Given the description of an element on the screen output the (x, y) to click on. 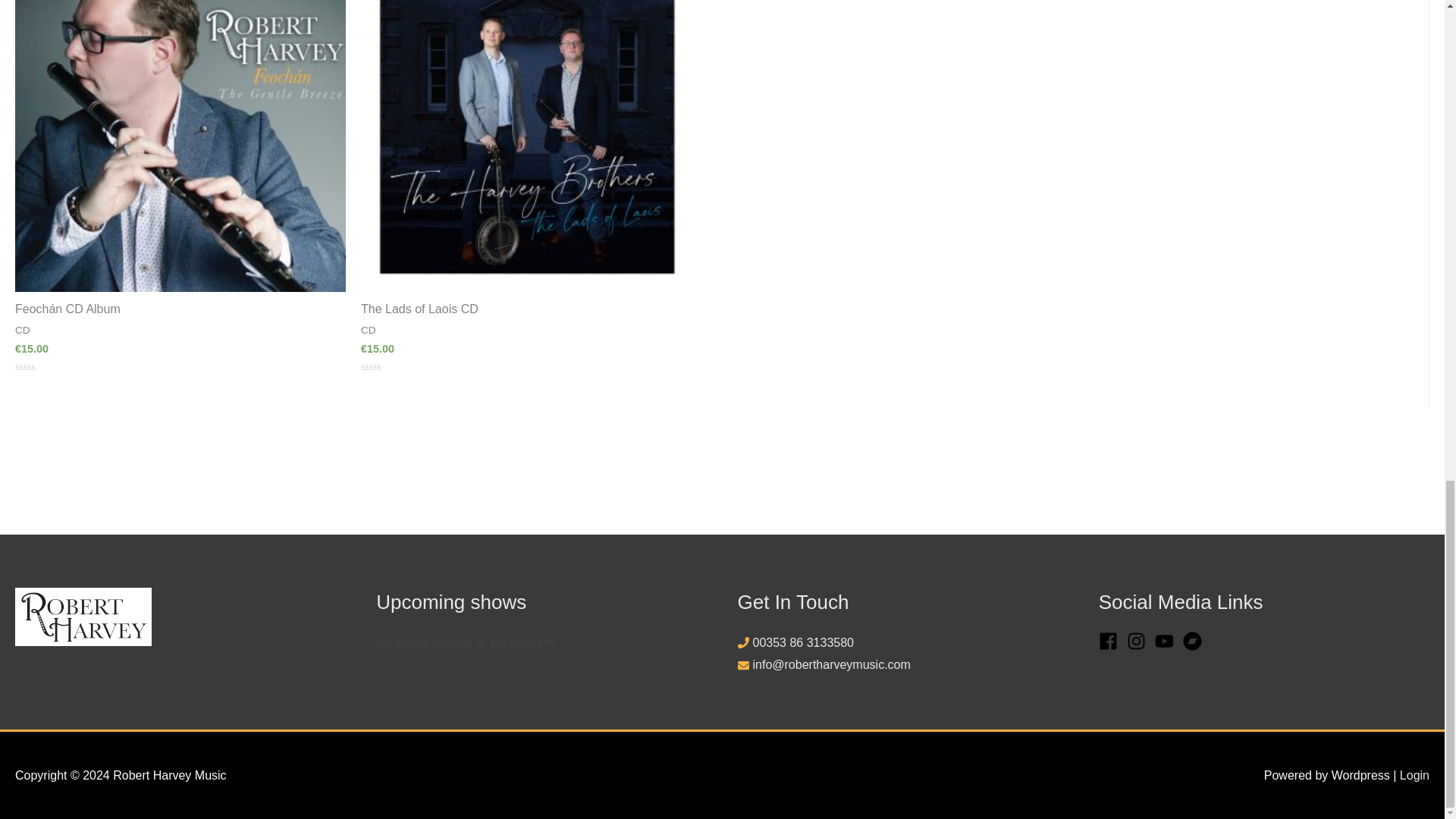
The Lads of Laois CD (526, 309)
Login (1414, 775)
00353 86 3133580 (802, 642)
